Given the description of an element on the screen output the (x, y) to click on. 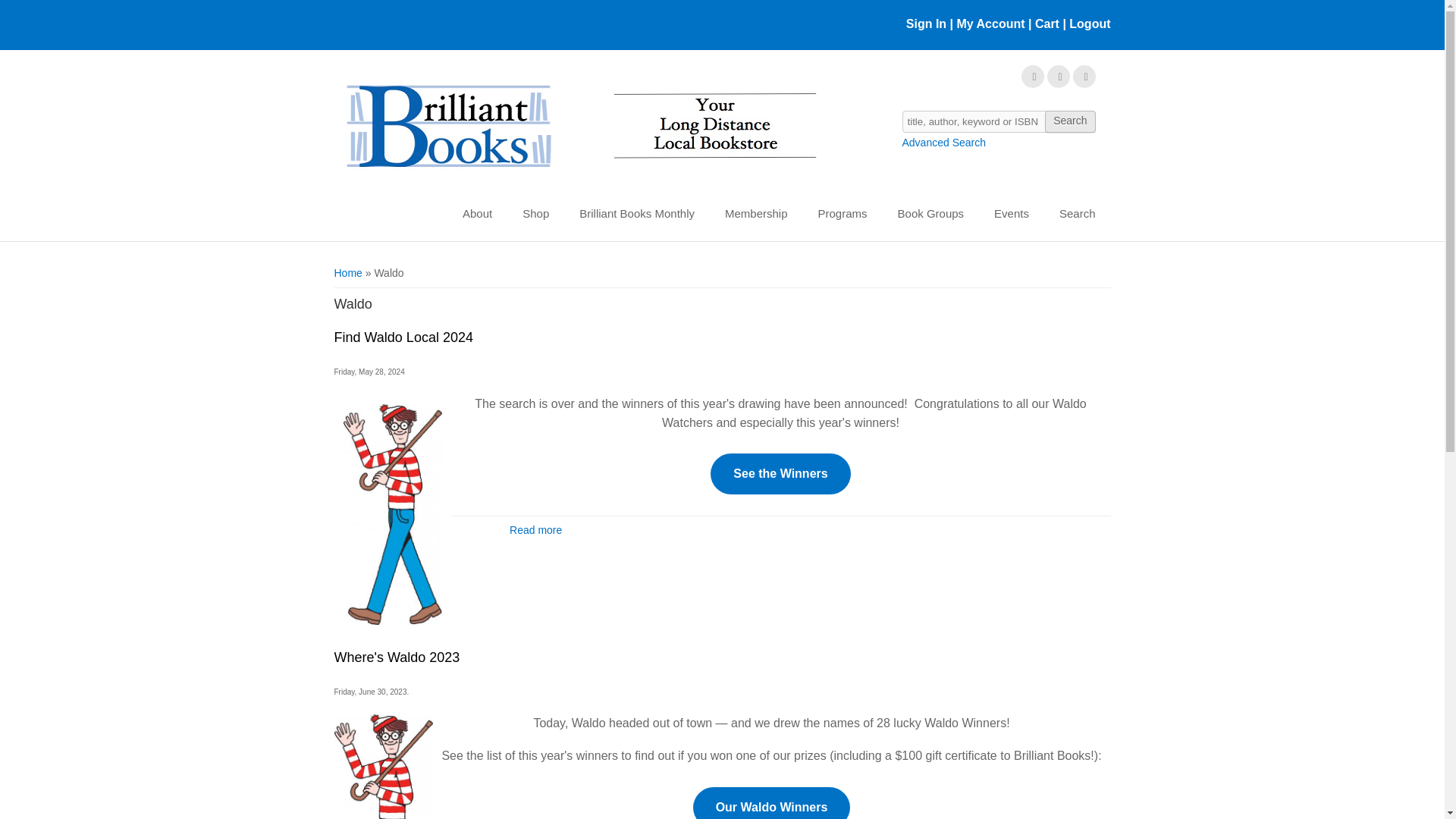
Enter the terms you wish to search for. (999, 121)
My Account (990, 23)
Advanced Search (944, 142)
Logout (1087, 23)
Shop (535, 213)
Search (1069, 121)
About (476, 213)
Cart (1047, 23)
Sign In (925, 23)
Home (579, 127)
Search (1069, 121)
